Given the description of an element on the screen output the (x, y) to click on. 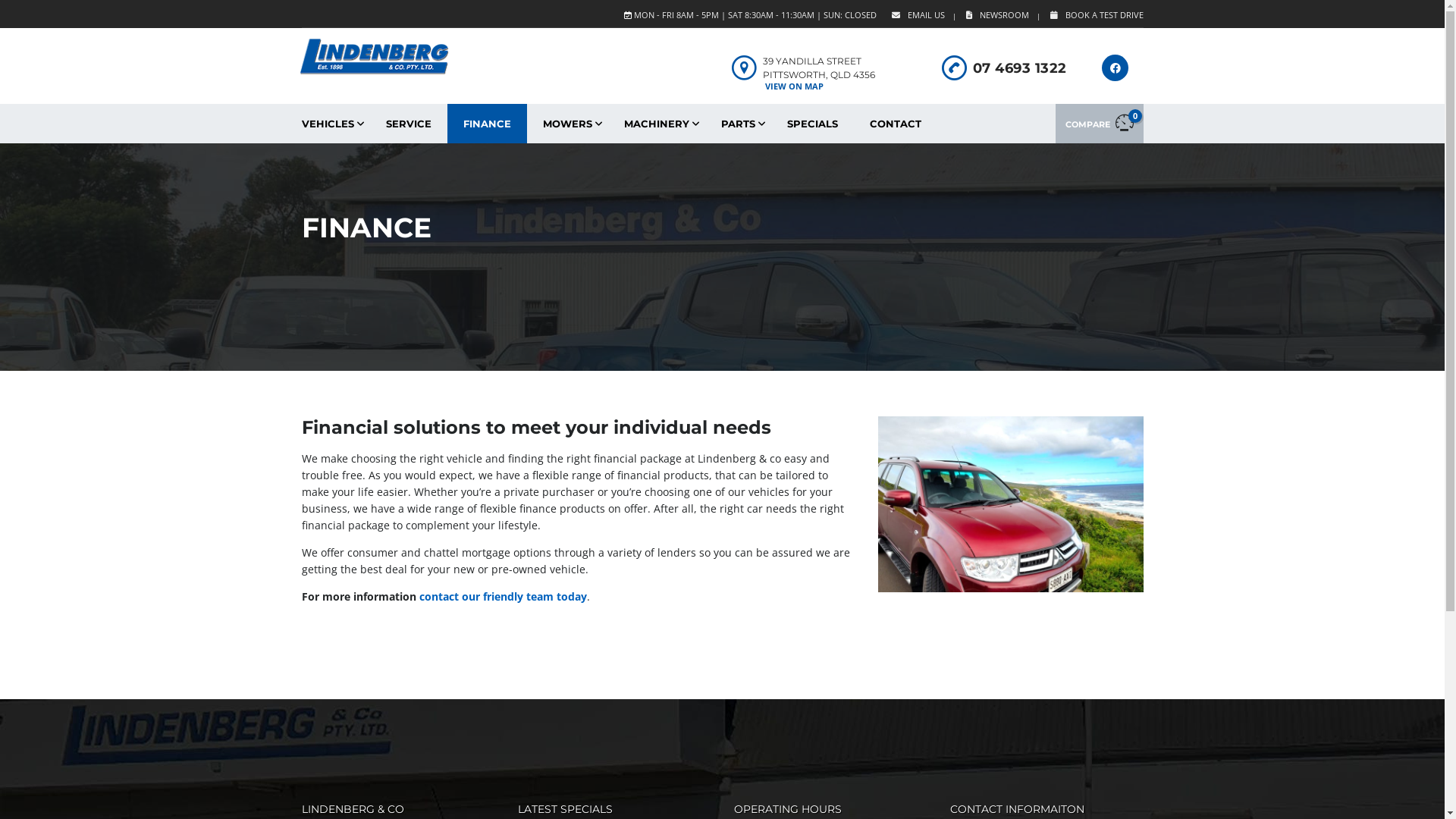
contact our friendly team today Element type: text (502, 596)
PARTS Element type: text (738, 123)
MOWERS Element type: text (566, 123)
SPECIALS Element type: text (811, 123)
Challenger 8 Small Element type: hover (1010, 504)
CONTACT Element type: text (895, 123)
VEHICLES Element type: text (327, 123)
MACHINERY Element type: text (656, 123)
FINANCE Element type: text (487, 123)
EMAIL US Element type: text (921, 14)
NEWSROOM Element type: text (1000, 14)
SERVICE Element type: text (408, 123)
07 4693 1322 Element type: text (1019, 67)
COMPARE
0 Element type: text (1099, 123)
BOOK A TEST DRIVE Element type: text (1099, 14)
Home Element type: hover (372, 55)
